Given the description of an element on the screen output the (x, y) to click on. 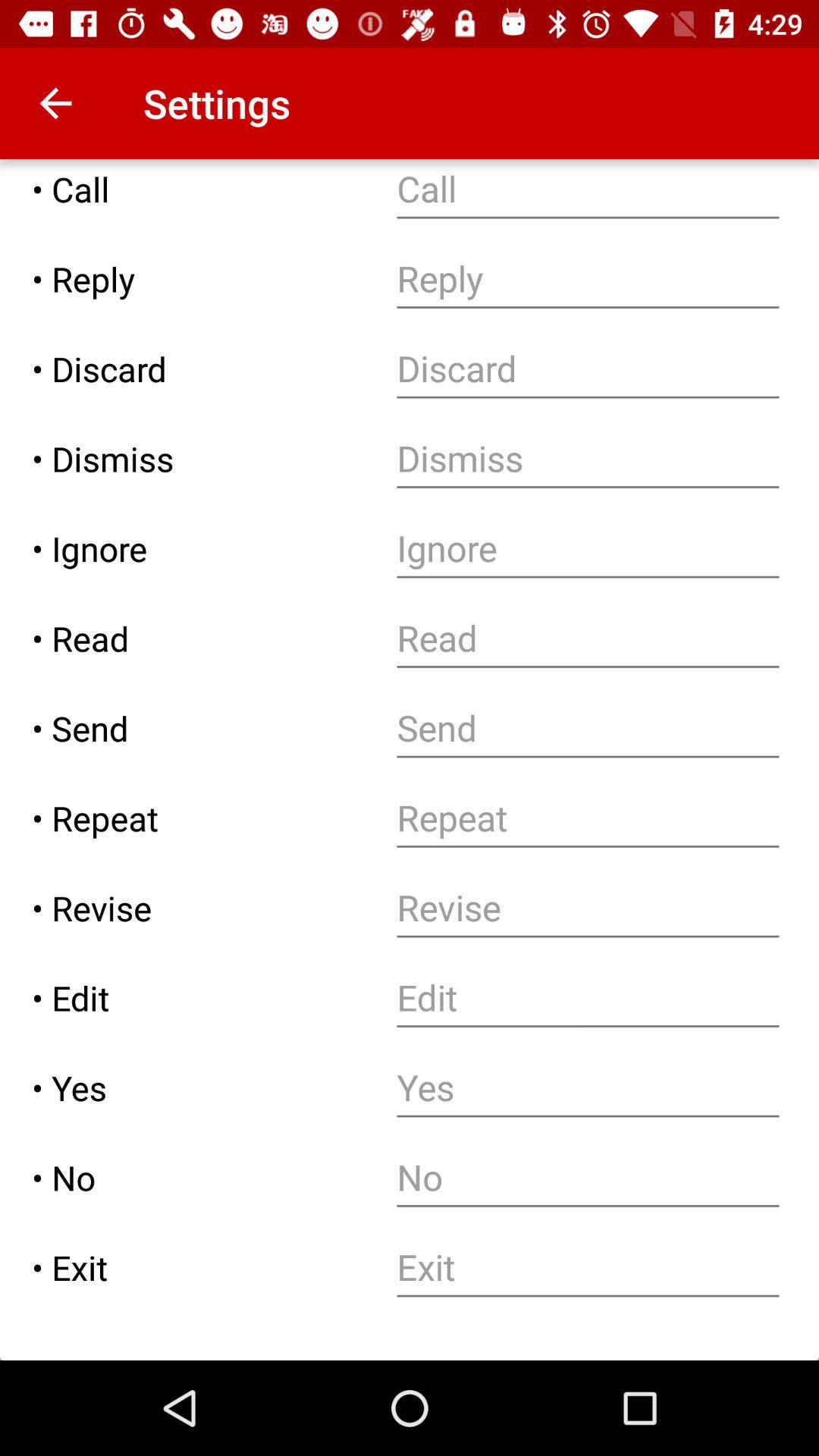
read settings (588, 638)
